Given the description of an element on the screen output the (x, y) to click on. 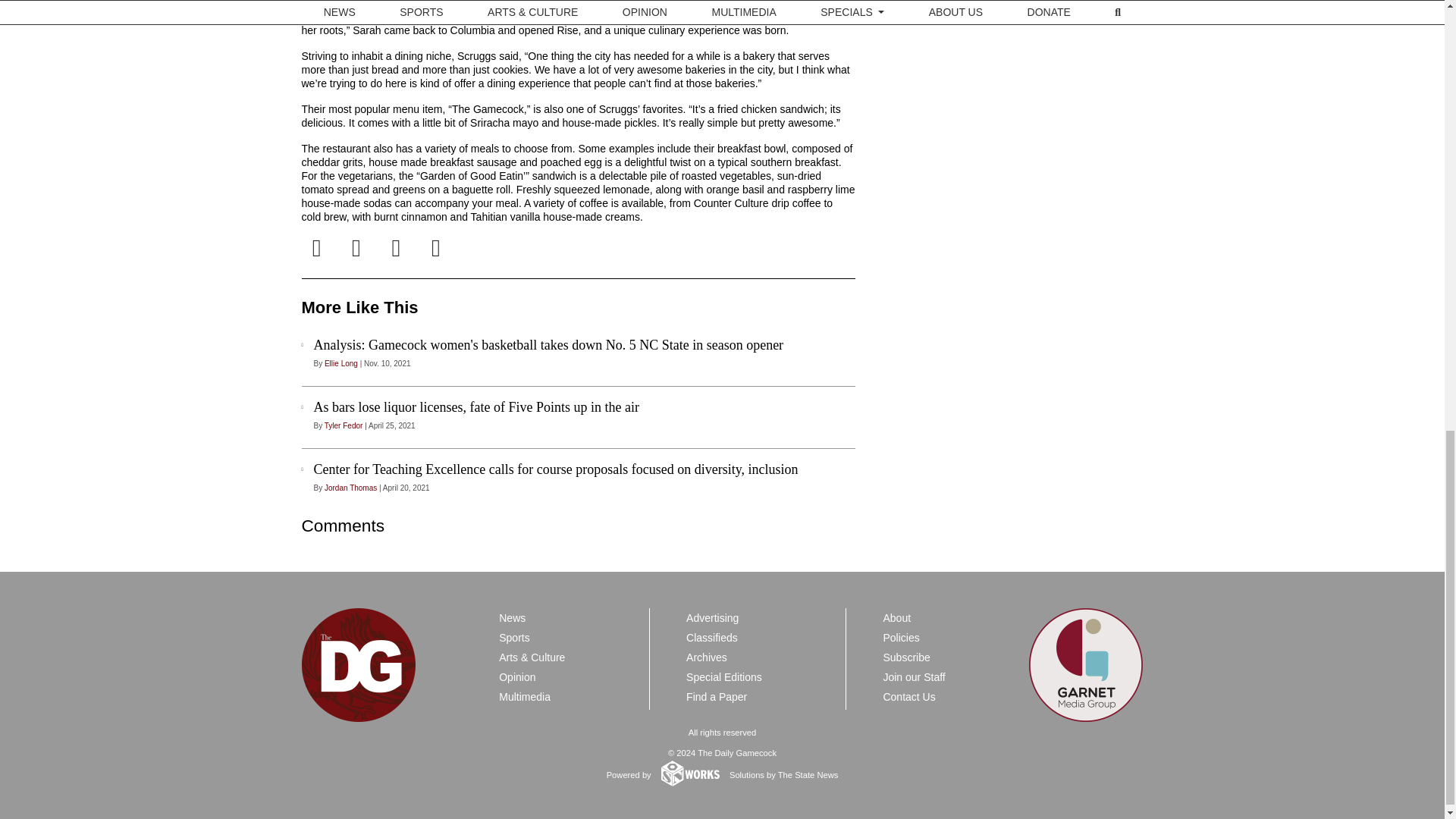
Ellie Long (341, 363)
